Given the description of an element on the screen output the (x, y) to click on. 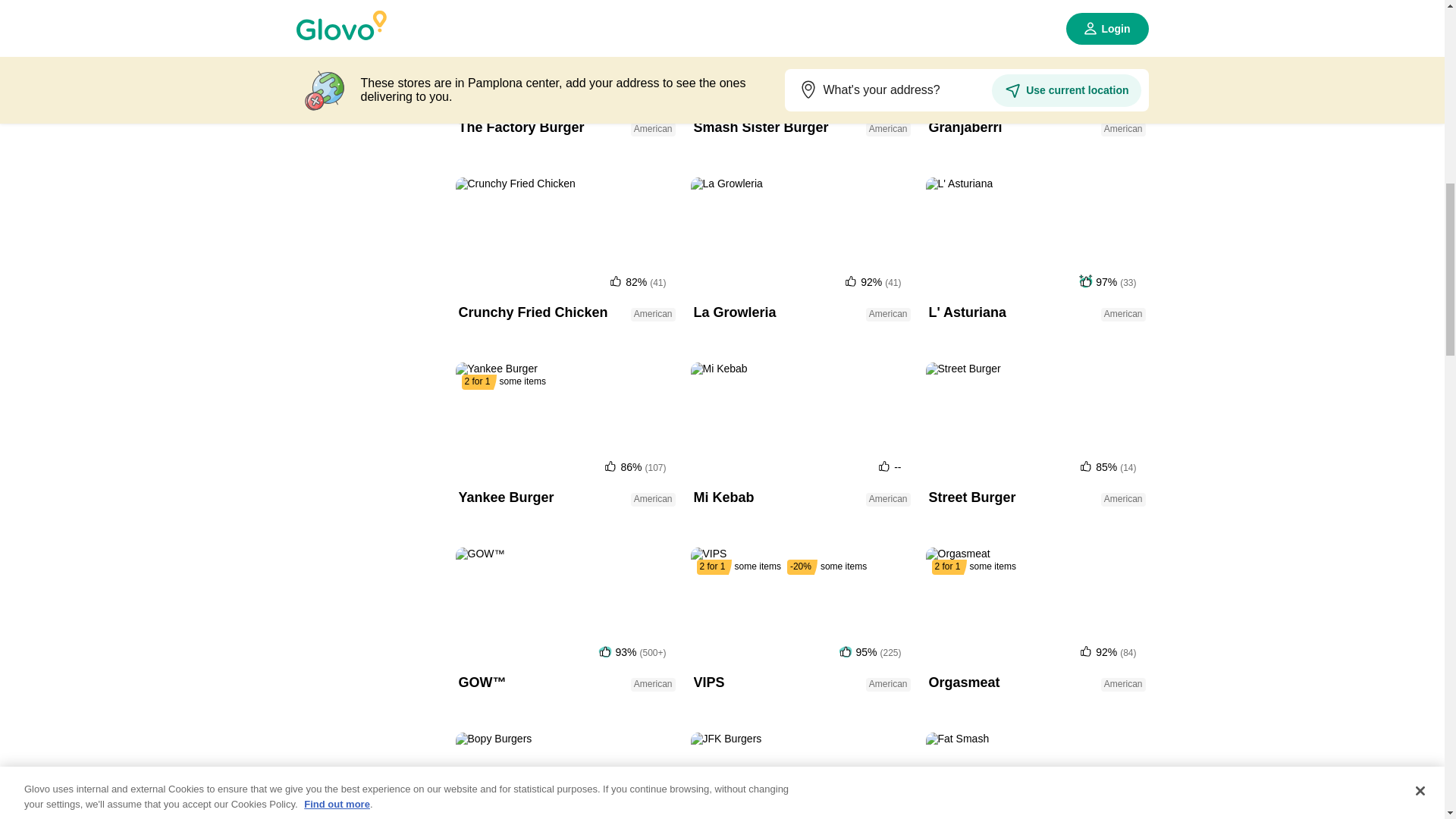
Paella (368, 363)
Italian (368, 139)
Kebab (368, 214)
Indian (368, 65)
Homemade food (368, 2)
Seafood (368, 511)
Japanese (368, 177)
International (368, 102)
Ice cream (368, 28)
Mexican (368, 325)
